Given the description of an element on the screen output the (x, y) to click on. 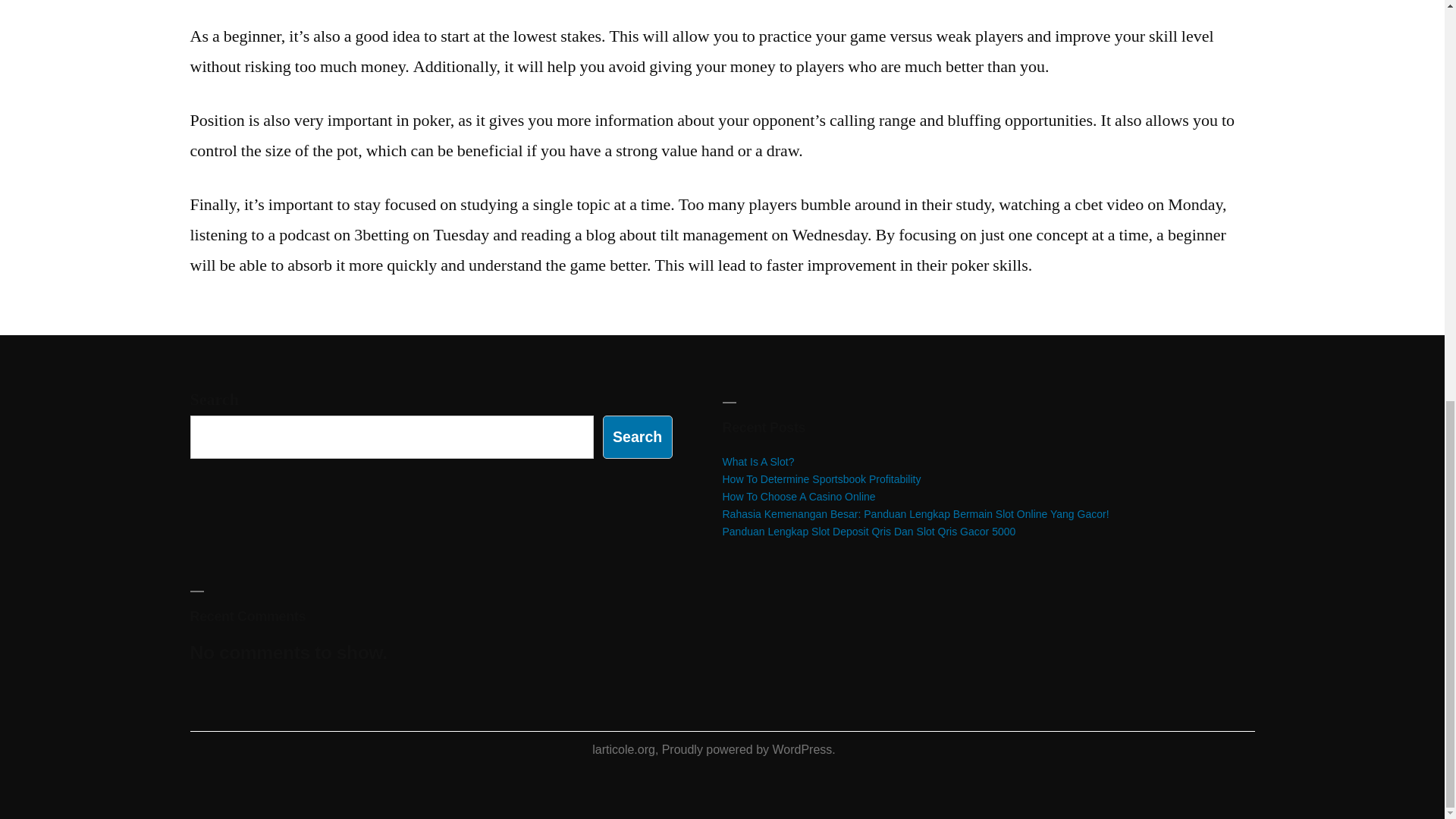
Panduan Lengkap Slot Deposit Qris Dan Slot Qris Gacor 5000 (868, 531)
Proudly powered by WordPress. (748, 748)
larticole.org (623, 748)
How To Determine Sportsbook Profitability (821, 479)
What Is A Slot? (757, 461)
Search (637, 436)
How To Choose A Casino Online (798, 496)
